Given the description of an element on the screen output the (x, y) to click on. 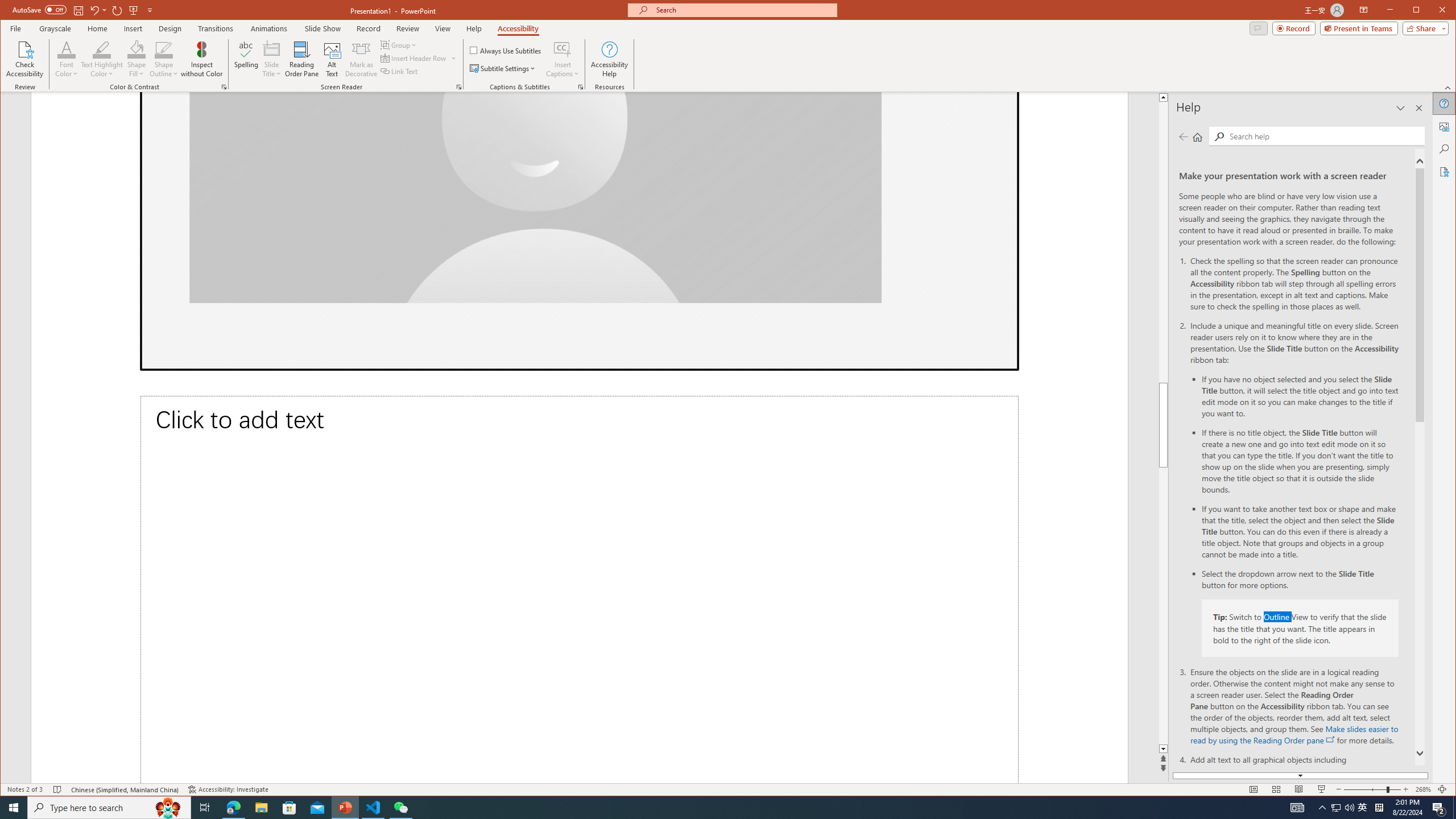
Link Text (399, 70)
Screen Reader (458, 86)
